Given the description of an element on the screen output the (x, y) to click on. 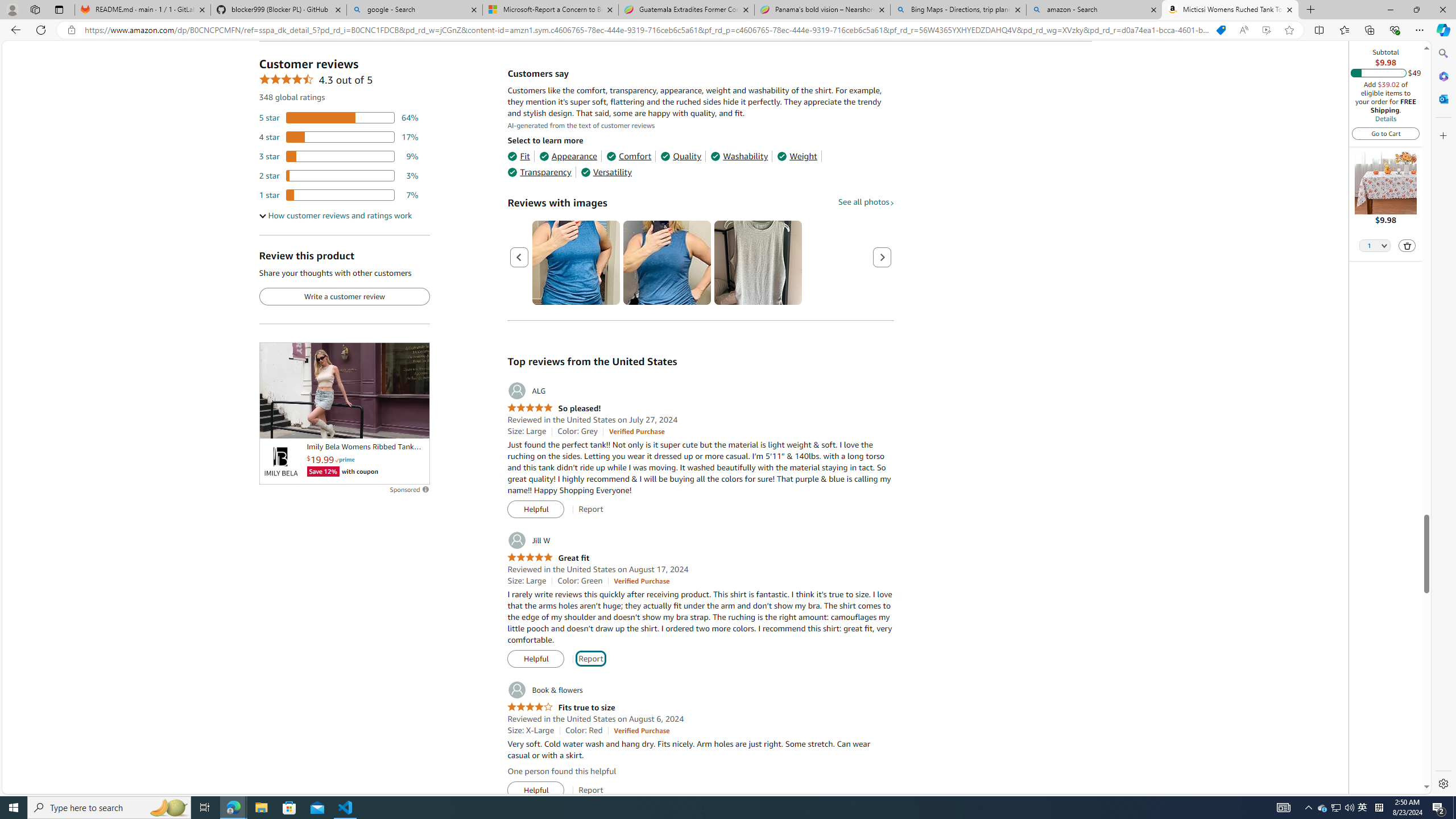
5.0 out of 5 stars Great fit (547, 557)
App bar (728, 29)
Report (590, 790)
Sponsored ad (344, 390)
Customer Image (758, 262)
google - Search (414, 9)
Customer Image (758, 262)
